Given the description of an element on the screen output the (x, y) to click on. 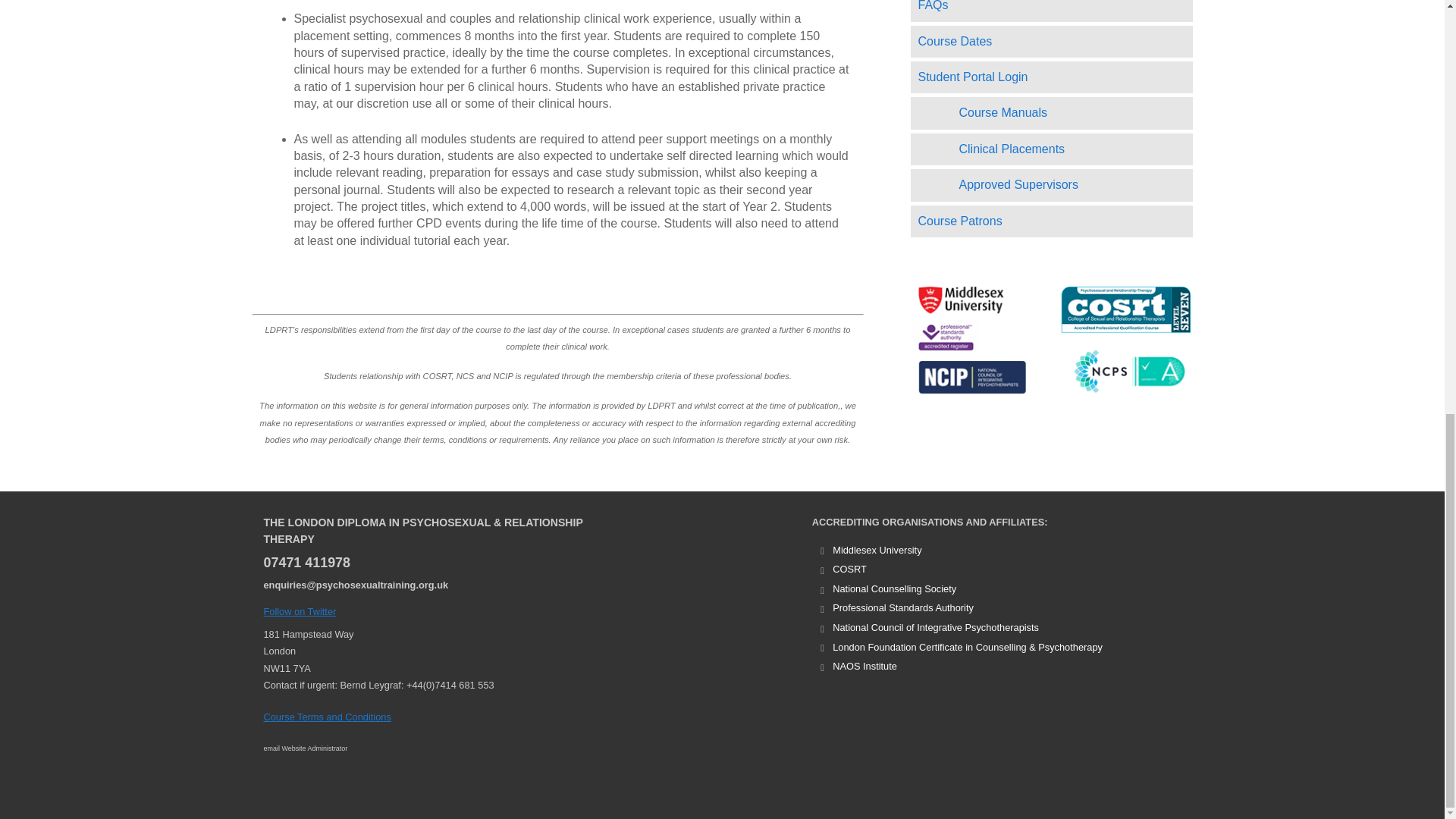
Enquiries (355, 584)
email Website Administrator (305, 748)
